Given the description of an element on the screen output the (x, y) to click on. 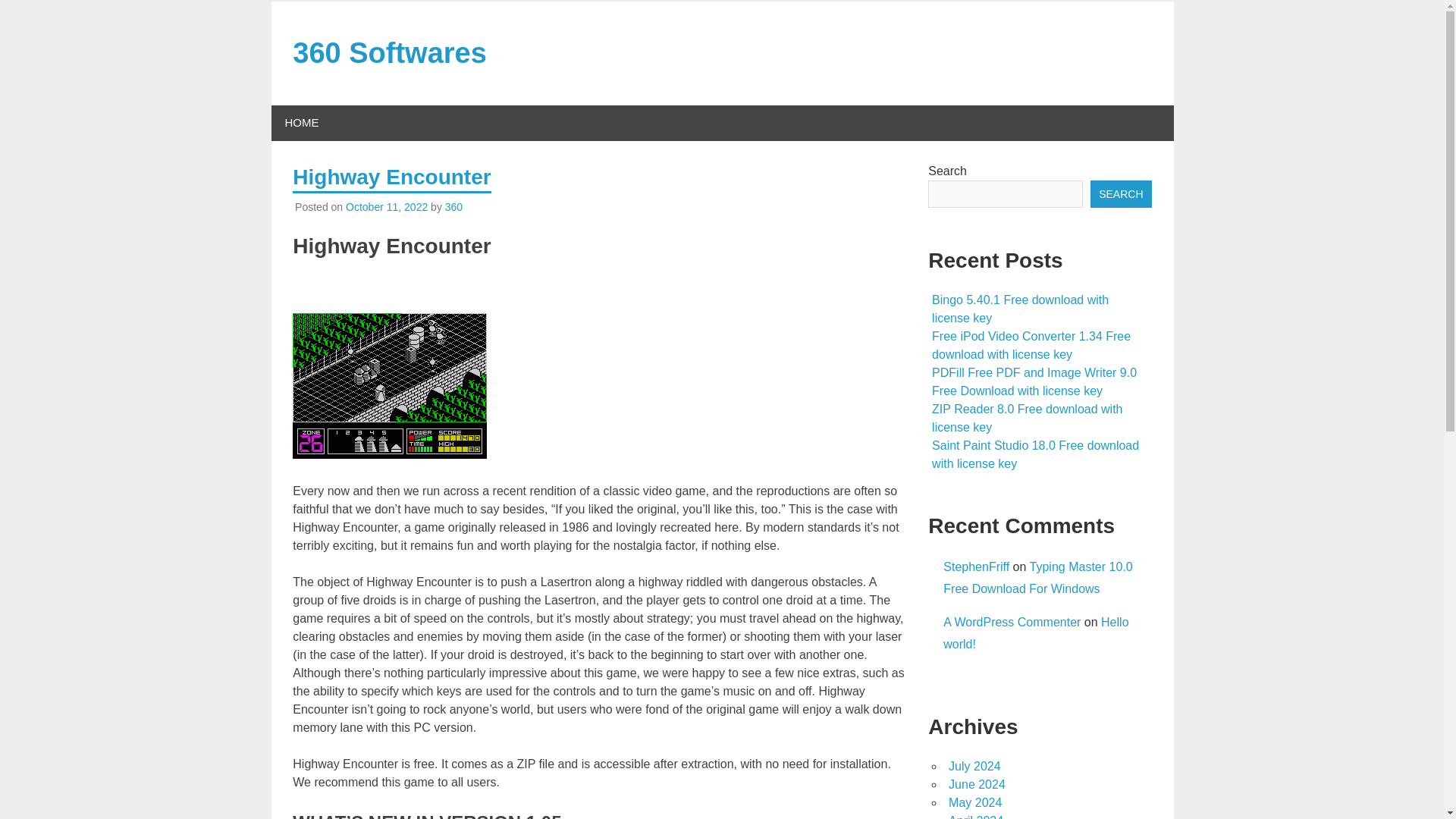
Typing Master 10.0 Free Download For Windows (1037, 577)
StephenFriff (976, 566)
Saint Paint Studio 18.0 Free download with license key (1034, 454)
HOME (301, 122)
View all posts by 360 (454, 206)
July 2024 (975, 766)
May 2024 (975, 802)
A WordPress Commenter (1011, 621)
Hello world! (1035, 632)
